Given the description of an element on the screen output the (x, y) to click on. 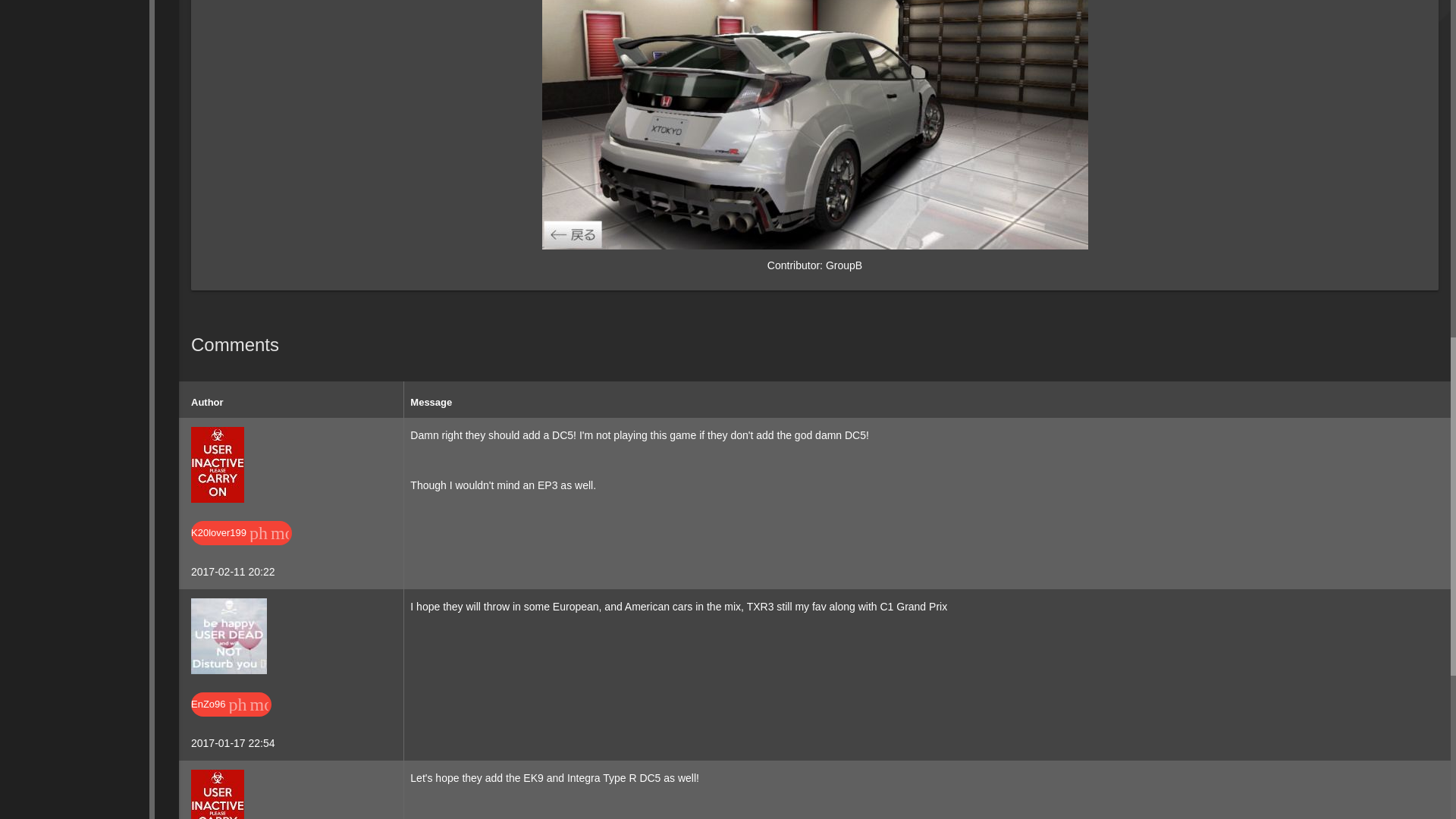
User contributions (298, 533)
User contributions (278, 704)
Comments posted (309, 704)
Comments posted (329, 533)
